Given the description of an element on the screen output the (x, y) to click on. 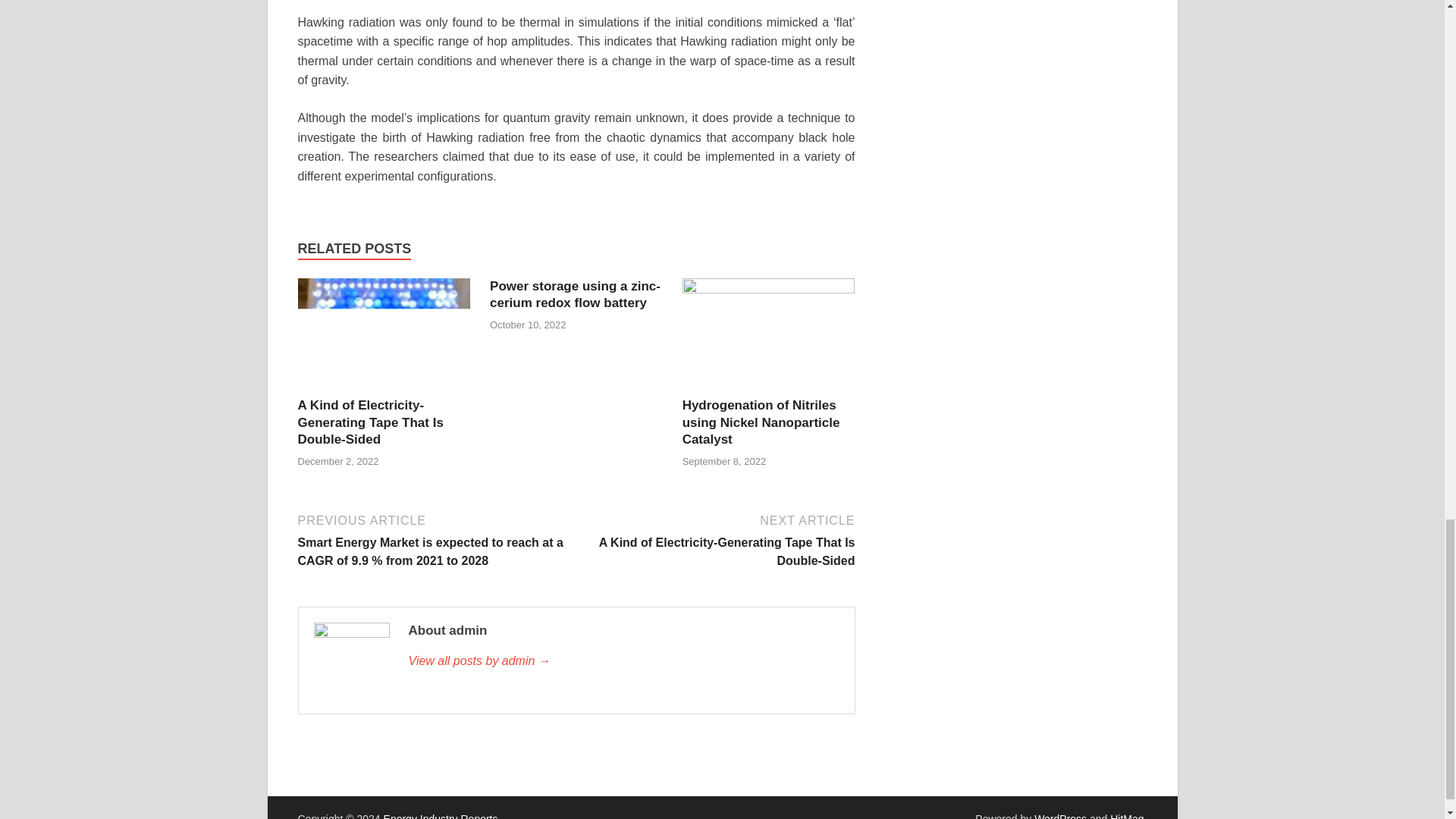
admin (622, 660)
Power storage using a zinc-cerium redox flow battery (575, 294)
A Kind of Electricity-Generating Tape That Is Double-Sided (383, 336)
Power storage using a zinc-cerium redox flow battery (575, 294)
A Kind of Electricity-Generating Tape That Is Double-Sided (369, 421)
Hydrogenation of Nitriles using Nickel Nanoparticle Catalyst (761, 421)
Hydrogenation of Nitriles using Nickel Nanoparticle Catalyst (761, 421)
A Kind of Electricity-Generating Tape That Is Double-Sided (369, 421)
Hydrogenation of Nitriles using Nickel Nanoparticle Catalyst (769, 336)
